Given the description of an element on the screen output the (x, y) to click on. 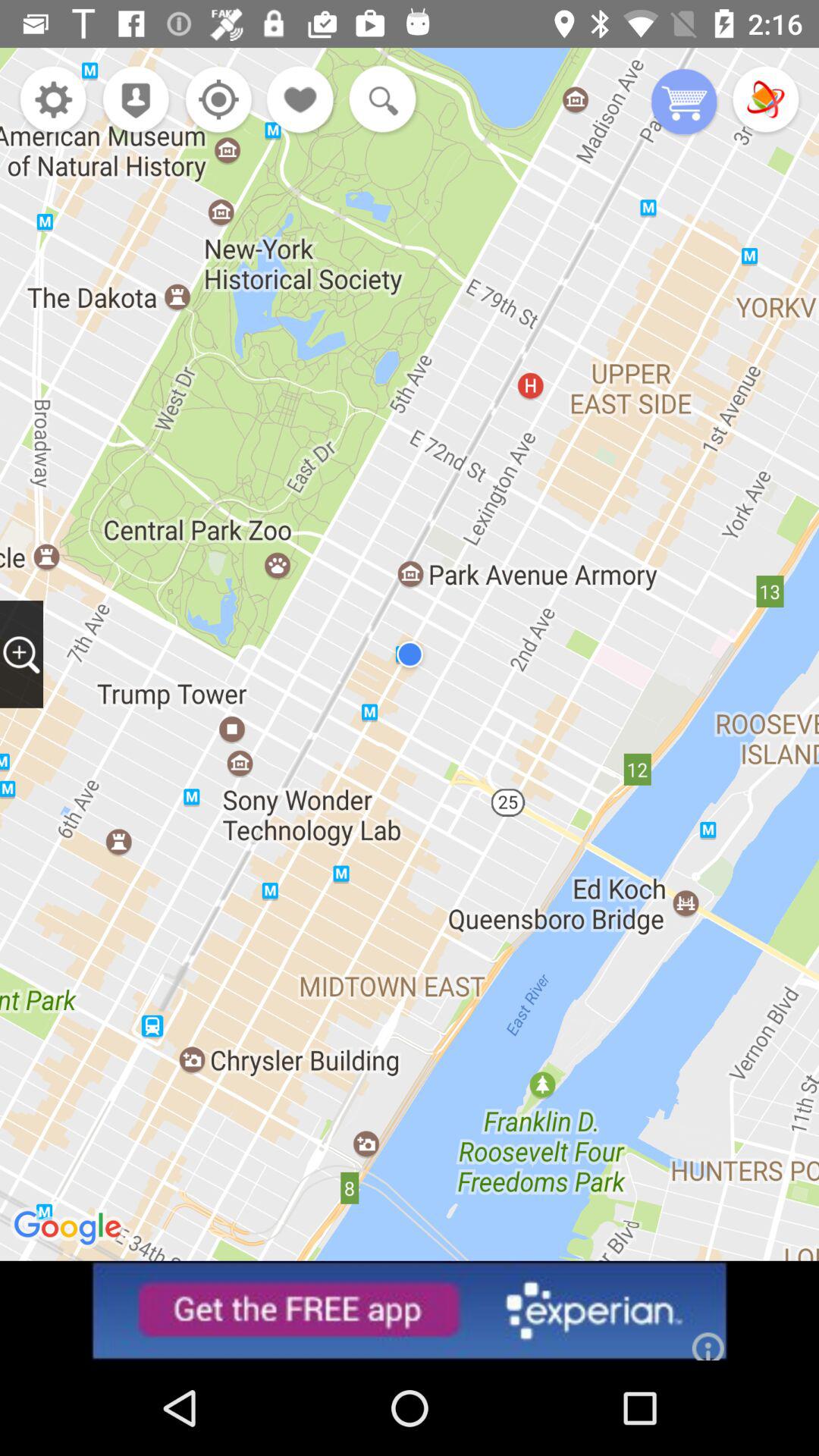
go to advertisement option (409, 1310)
